Given the description of an element on the screen output the (x, y) to click on. 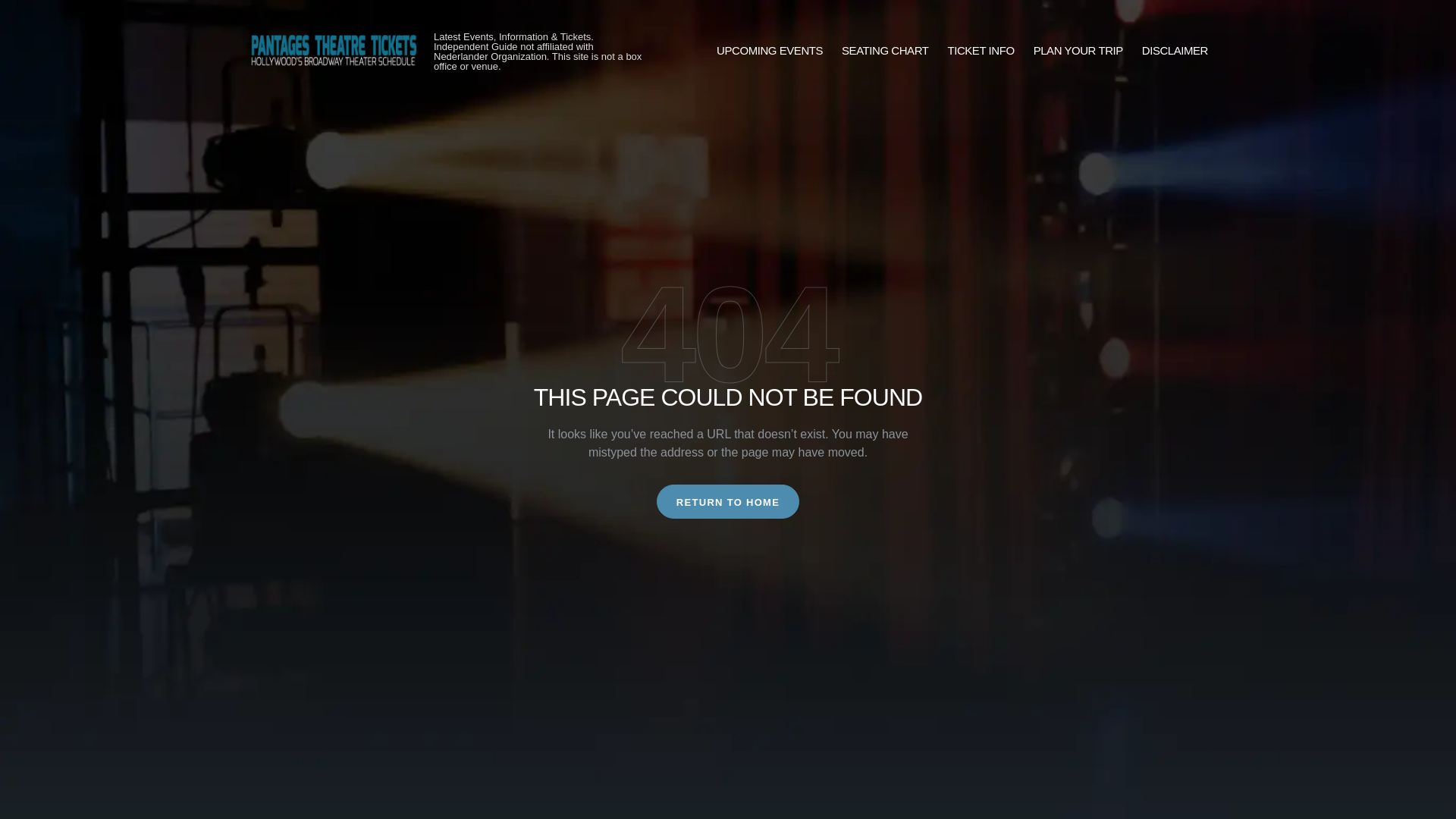
SEATING CHART (884, 50)
DISCLAIMER (1174, 50)
TICKET INFO (980, 50)
RETURN TO HOME (727, 501)
UPCOMING EVENTS (769, 50)
PLAN YOUR TRIP (1077, 50)
